Given the description of an element on the screen output the (x, y) to click on. 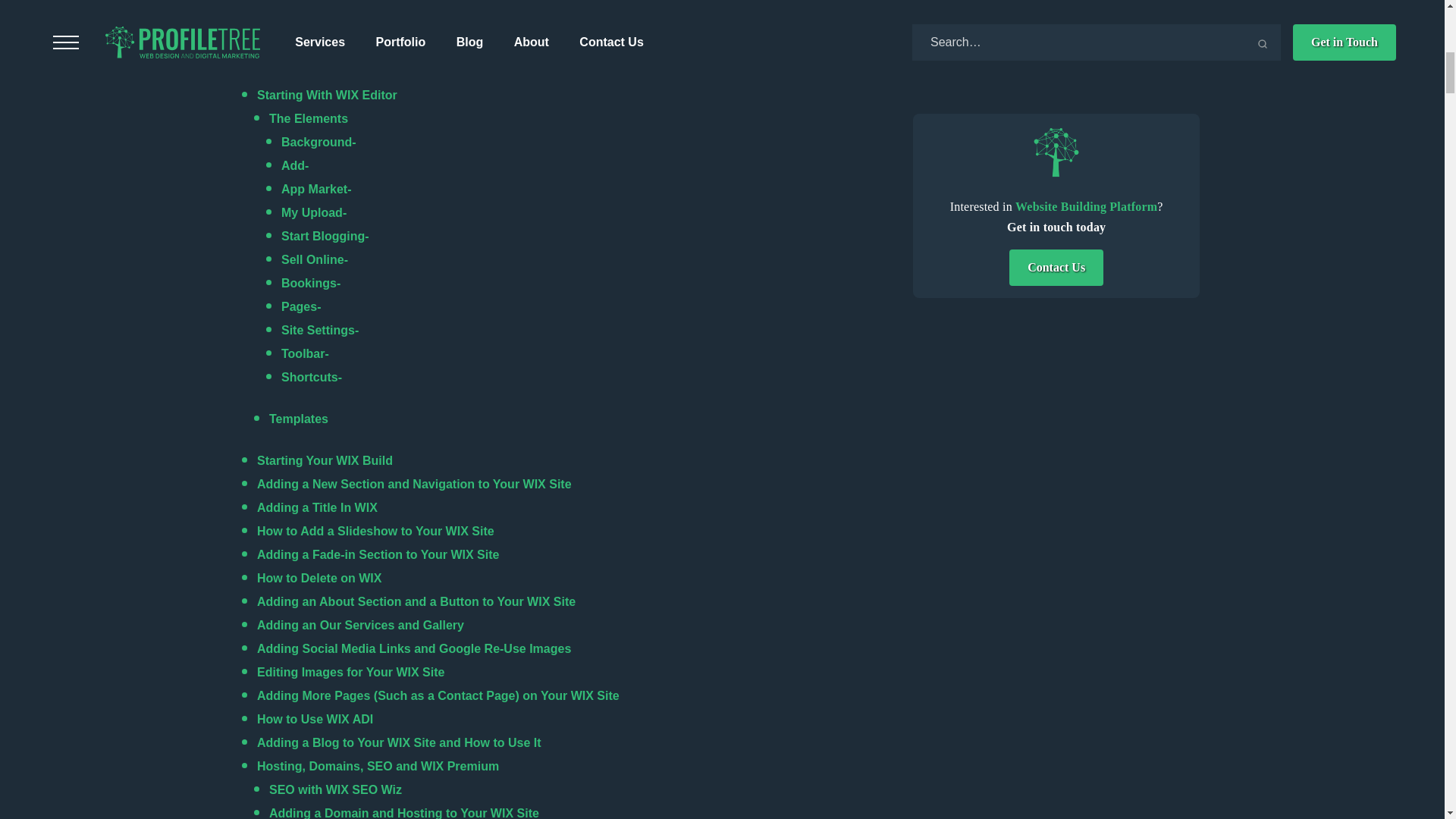
Templates (299, 418)
Toolbar- (305, 353)
My Upload- (313, 212)
Add-  (297, 164)
Sell Online- (314, 259)
Bookings-  (312, 282)
Background- (318, 141)
Before Getting Started on WIX (343, 71)
The Elements (308, 118)
Start Blogging- (325, 236)
App Market- (315, 188)
Starting With WIX Editor (327, 94)
Shortcuts- (311, 377)
Pages-  (302, 306)
WIX Website Tutorial: Logging In or Signing Up to Wix (413, 47)
